Given the description of an element on the screen output the (x, y) to click on. 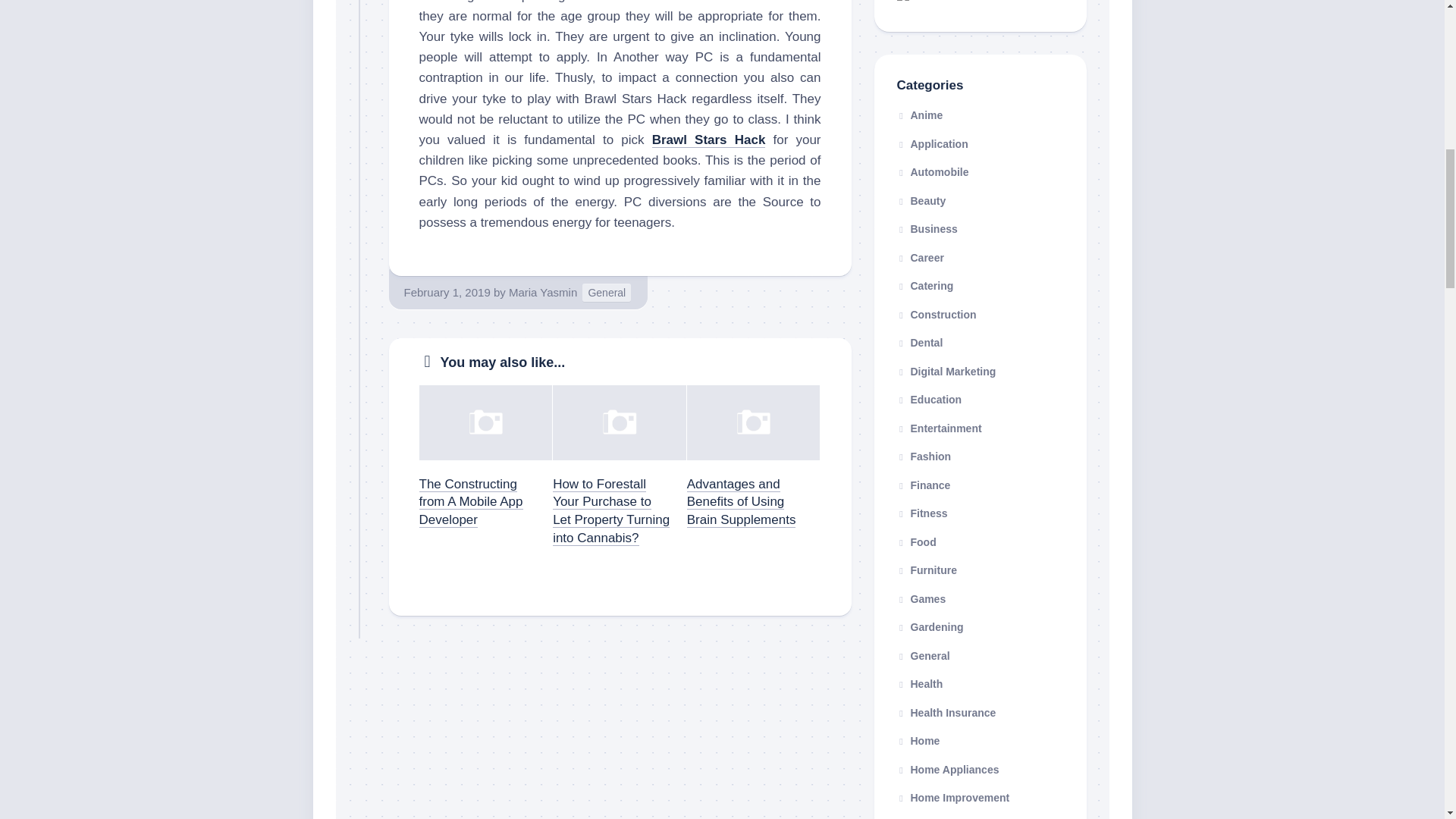
Business (926, 228)
Career (919, 257)
Advantages and Benefits of Using Brain Supplements (741, 501)
Maria Yasmin (542, 291)
Brawl Stars Hack (708, 139)
Automobile (932, 172)
Entertainment (938, 427)
Beauty (920, 200)
Catering (924, 285)
Construction (935, 313)
